Given the description of an element on the screen output the (x, y) to click on. 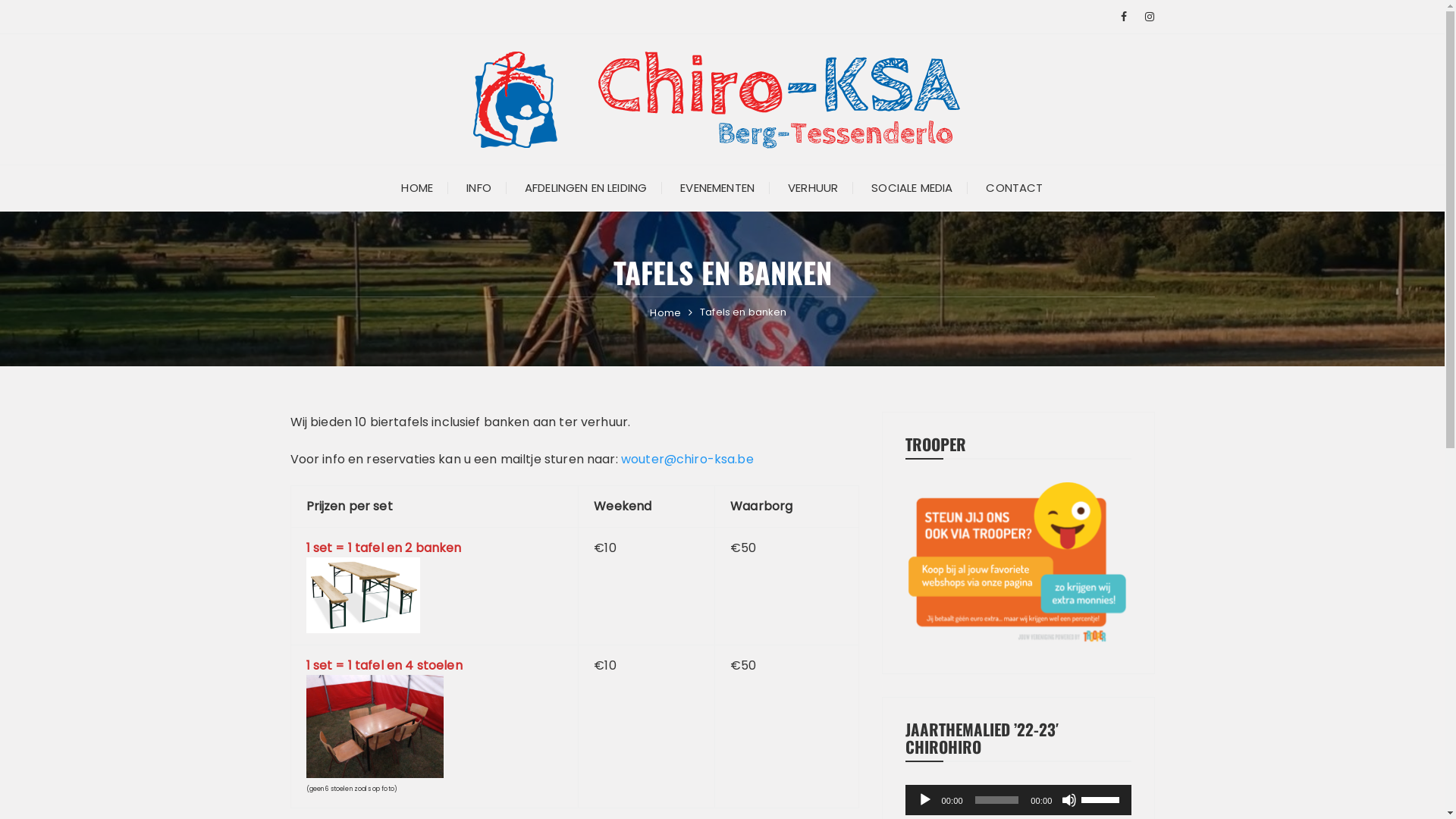
Afspelen Element type: hover (924, 799)
EVENEMENTEN Element type: text (717, 187)
HOME Element type: text (416, 187)
CONTACT Element type: text (1013, 187)
wouter Element type: text (642, 458)
SOCIALE MEDIA Element type: text (911, 187)
AFDELINGEN EN LEIDING Element type: text (585, 187)
@chiro-ksa.be Element type: text (708, 458)
VERHUUR Element type: text (812, 187)
Afbreken Element type: hover (1068, 799)
INFO Element type: text (478, 187)
Home Element type: text (664, 312)
Tafels en banken Element type: text (742, 312)
